Given the description of an element on the screen output the (x, y) to click on. 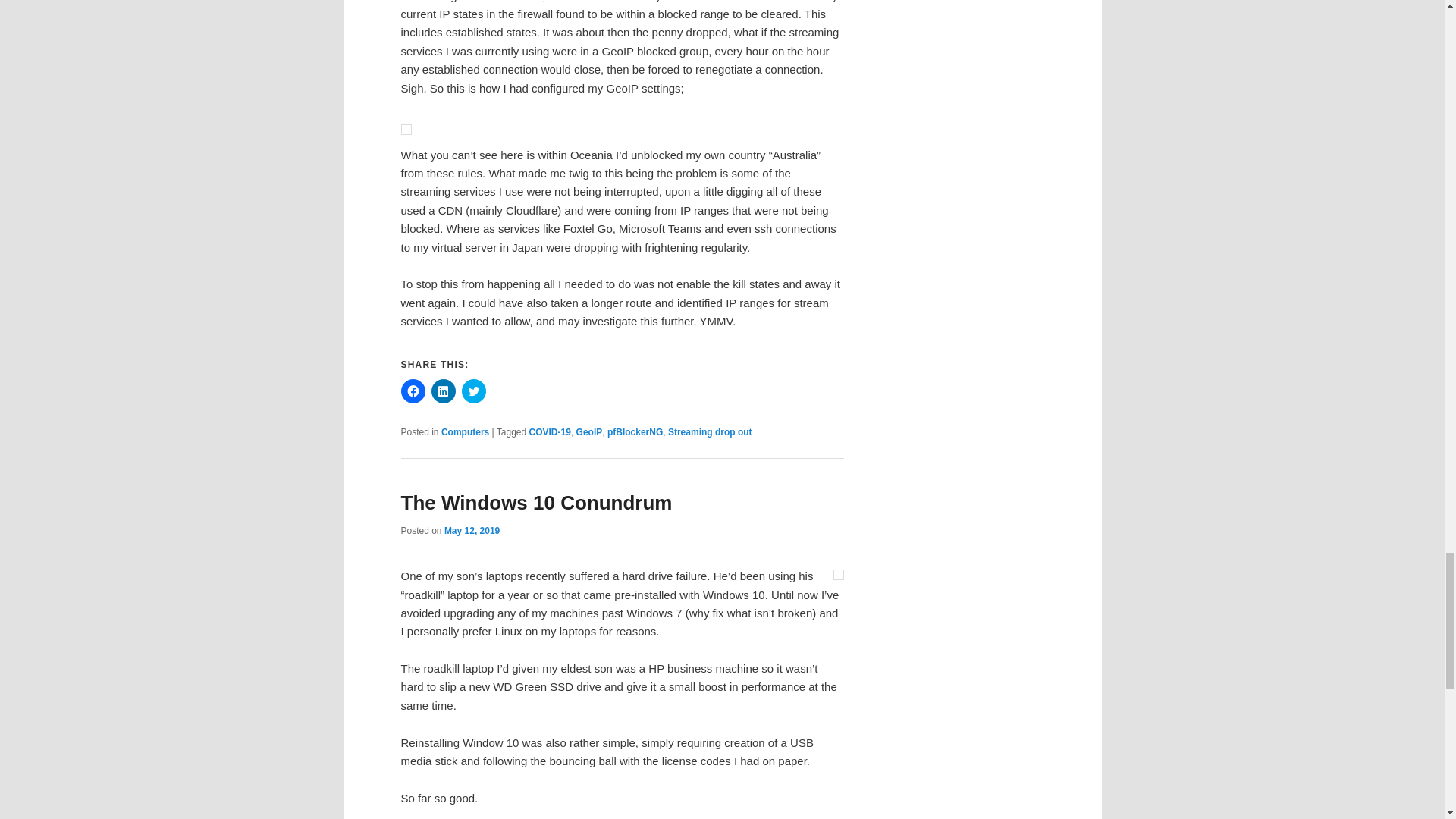
Click to share on LinkedIn (442, 391)
Click to share on Facebook (412, 391)
Click to share on Twitter (472, 391)
